Given the description of an element on the screen output the (x, y) to click on. 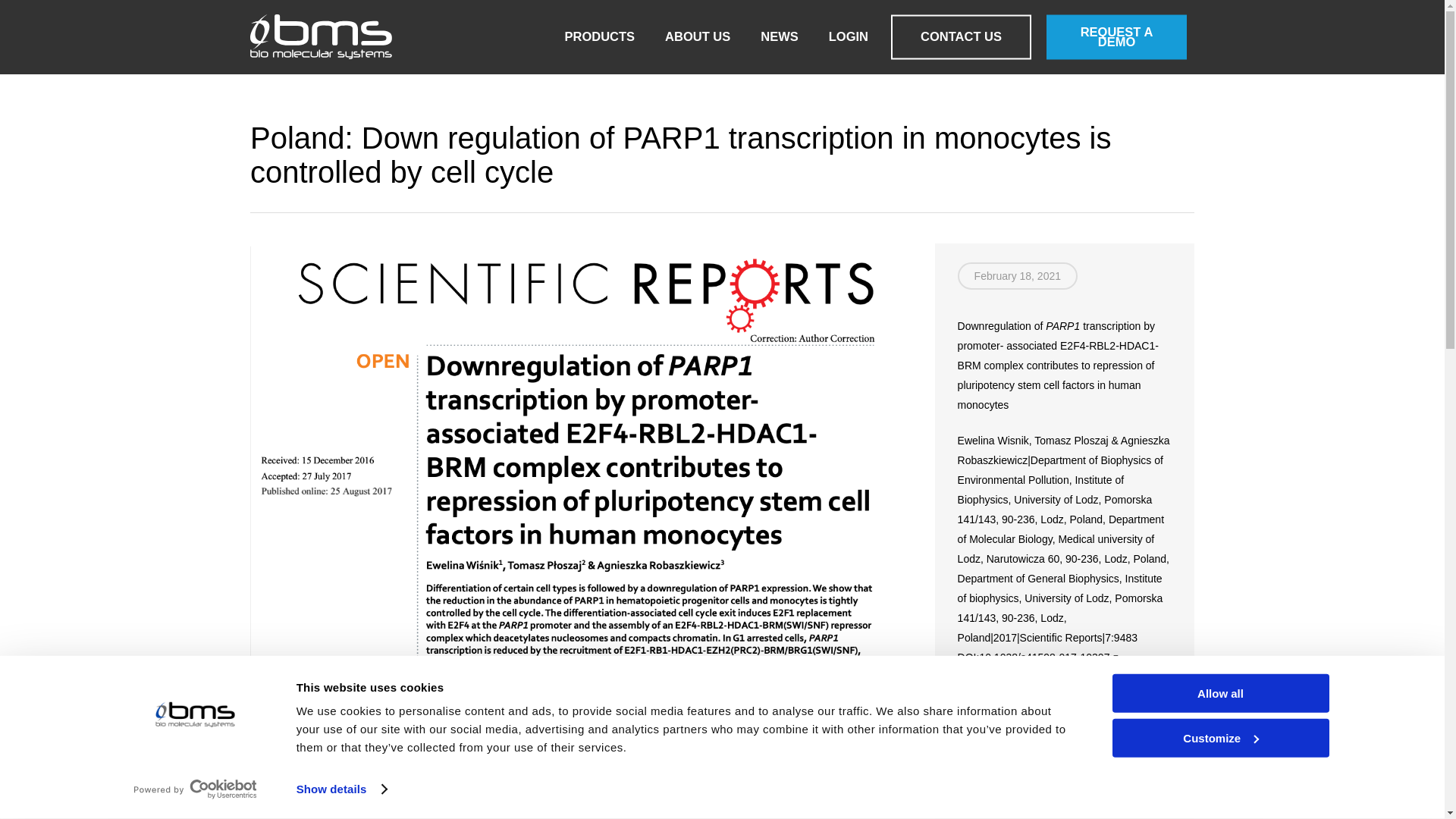
Allow all (1219, 693)
Customize (1219, 737)
Show details (341, 789)
